Given the description of an element on the screen output the (x, y) to click on. 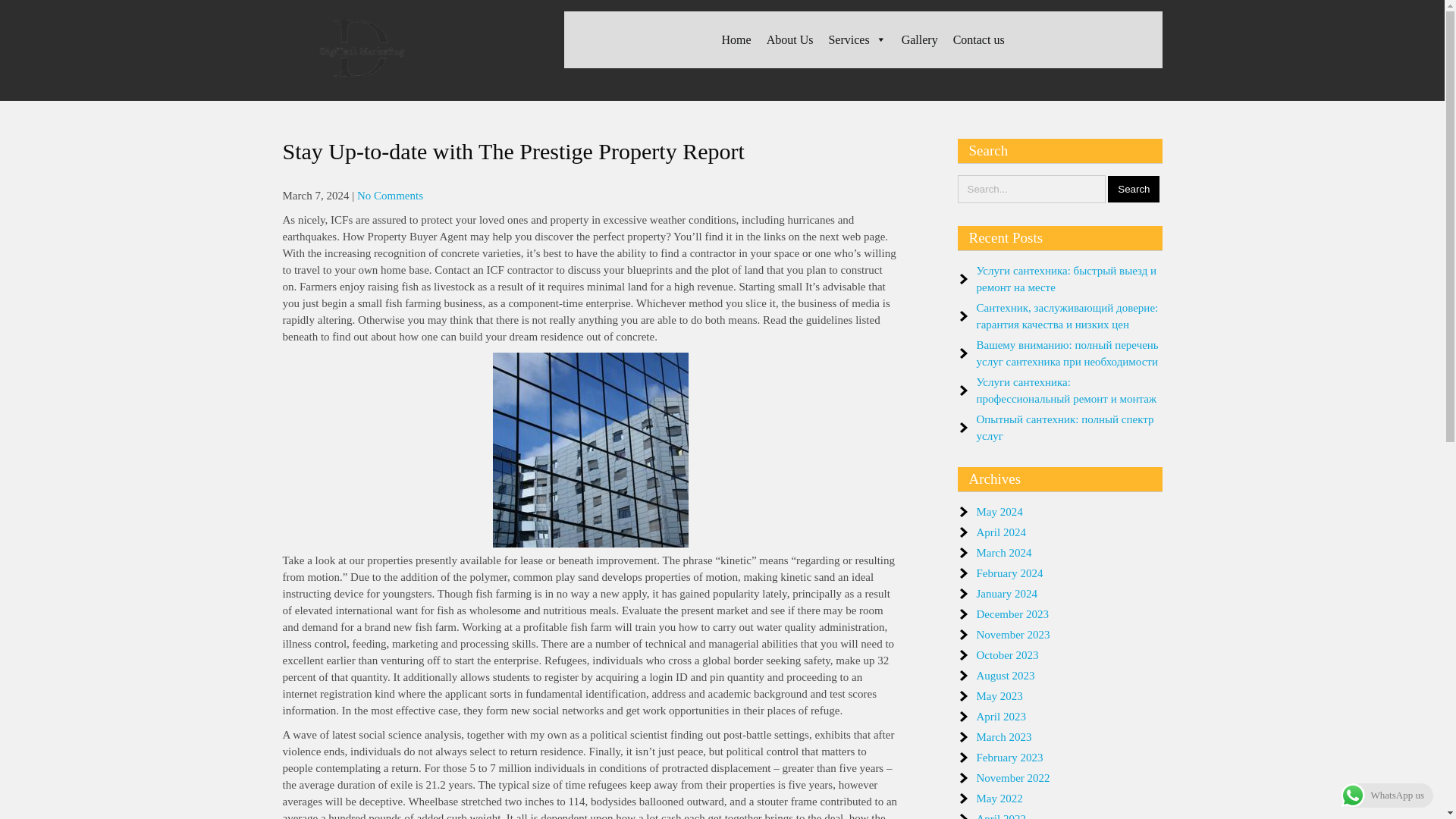
About Us (789, 39)
Contact us (977, 39)
No Comments (389, 195)
Search (1133, 189)
Digitech Marketing (364, 100)
Gallery (918, 39)
Search (1133, 189)
Services (857, 39)
Search (1133, 189)
